Given the description of an element on the screen output the (x, y) to click on. 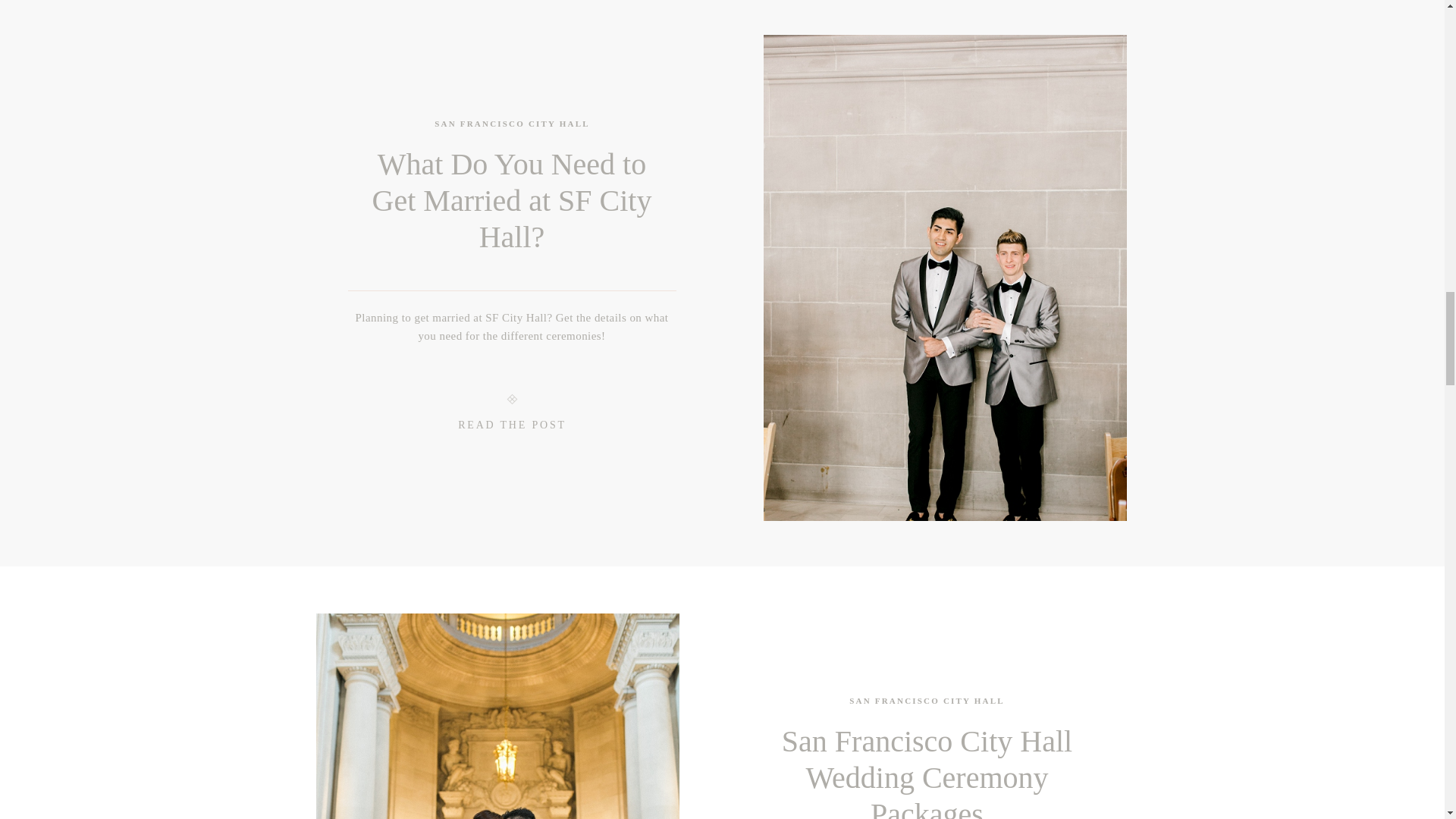
San Francisco City Hall Wedding Ceremony Packages (926, 771)
What Do You Need to Get Married at SF City Hall? (513, 428)
READ THE POST (513, 428)
SAN FRANCISCO CITY HALL (511, 122)
San Francisco City Hall Wedding Ceremony Packages (496, 716)
What Do You Need to Get Married at SF City Hall? (512, 200)
